Given the description of an element on the screen output the (x, y) to click on. 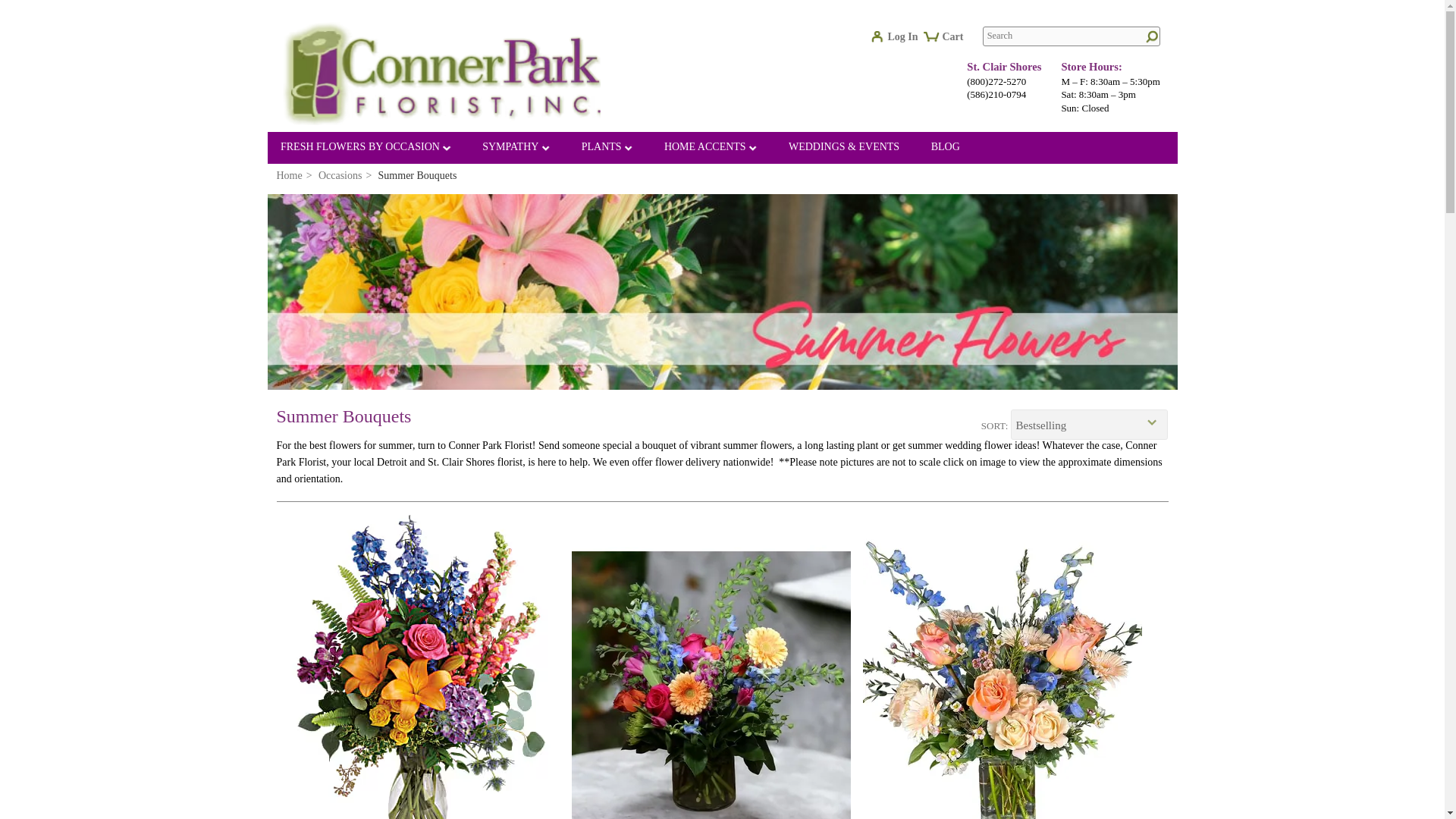
Go (1149, 37)
PLANTS (606, 148)
Sort By (1088, 424)
log In (898, 40)
Cart (948, 42)
FRESH FLOWERS BY OCCASION (365, 148)
SYMPATHY (515, 148)
Log In (898, 40)
Search (1071, 35)
